Given the description of an element on the screen output the (x, y) to click on. 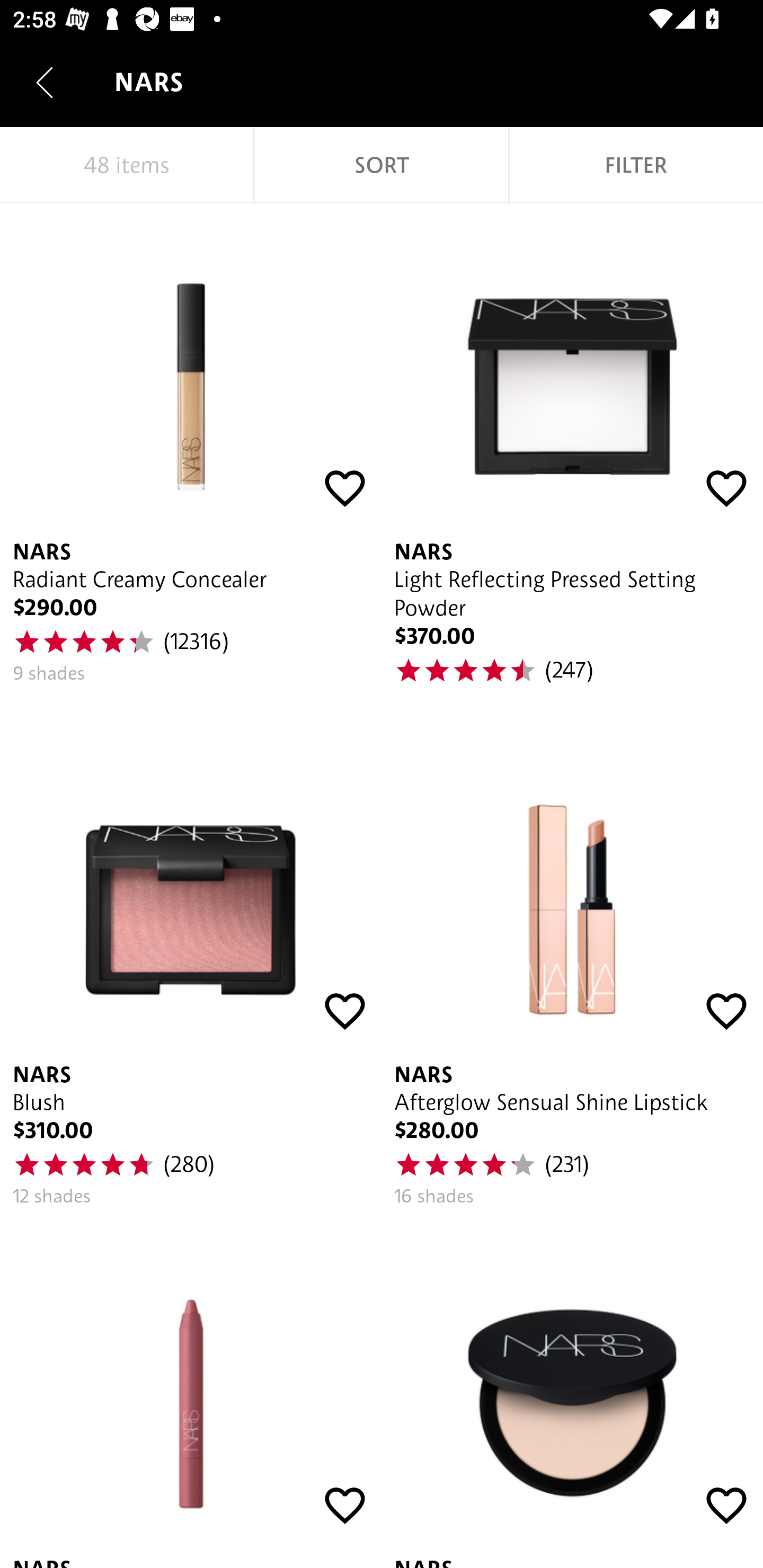
Navigate up (44, 82)
SORT (381, 165)
FILTER (636, 165)
NARS Blush $310.00 47.0 (280) 12 shades (190, 972)
NARS (190, 1393)
NARS (572, 1393)
